Given the description of an element on the screen output the (x, y) to click on. 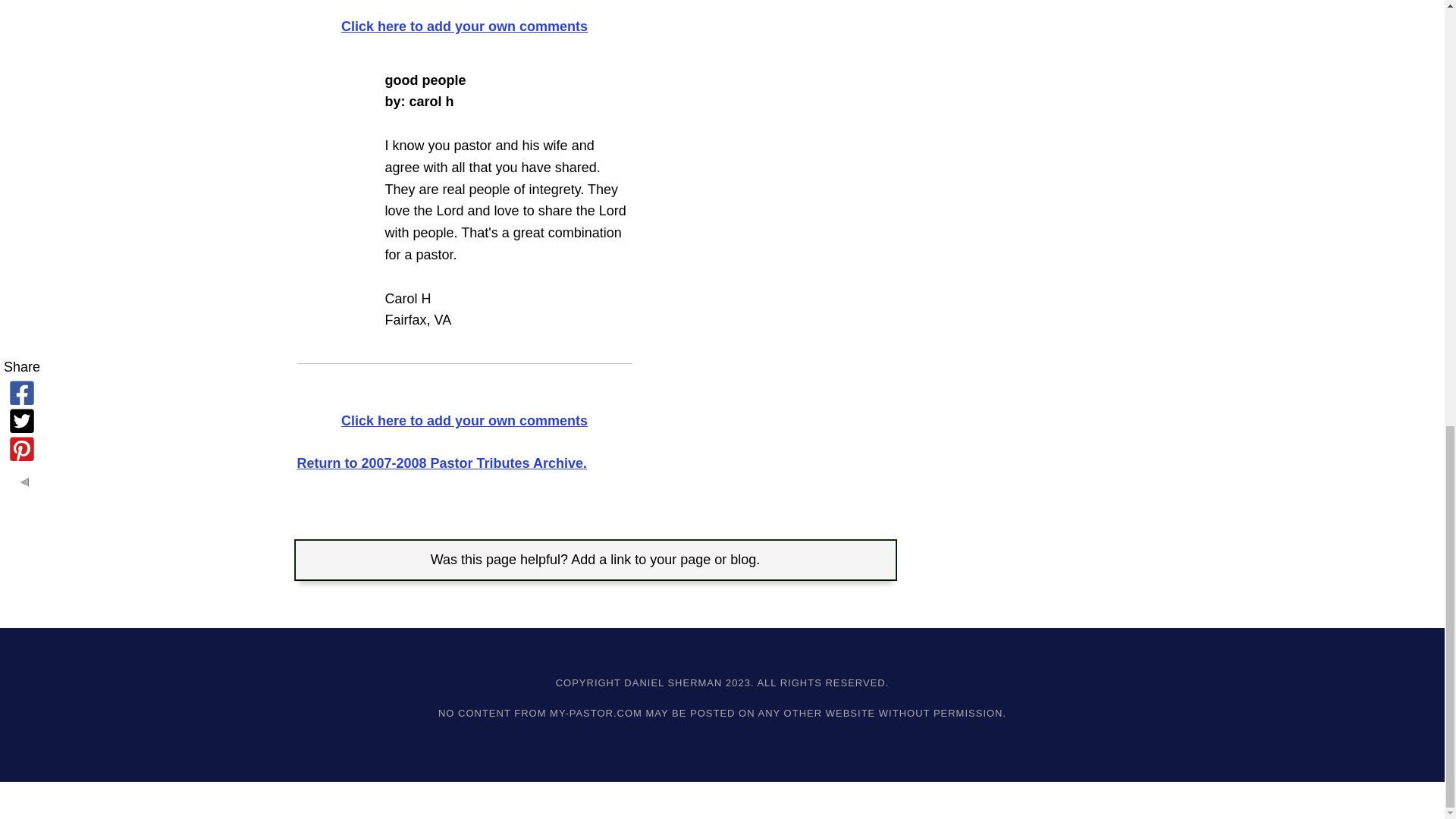
Click here to add your own comments (464, 420)
Return to 2007-2008 Pastor Tributes Archive. (441, 462)
Click here to add your own comments (464, 26)
